Given the description of an element on the screen output the (x, y) to click on. 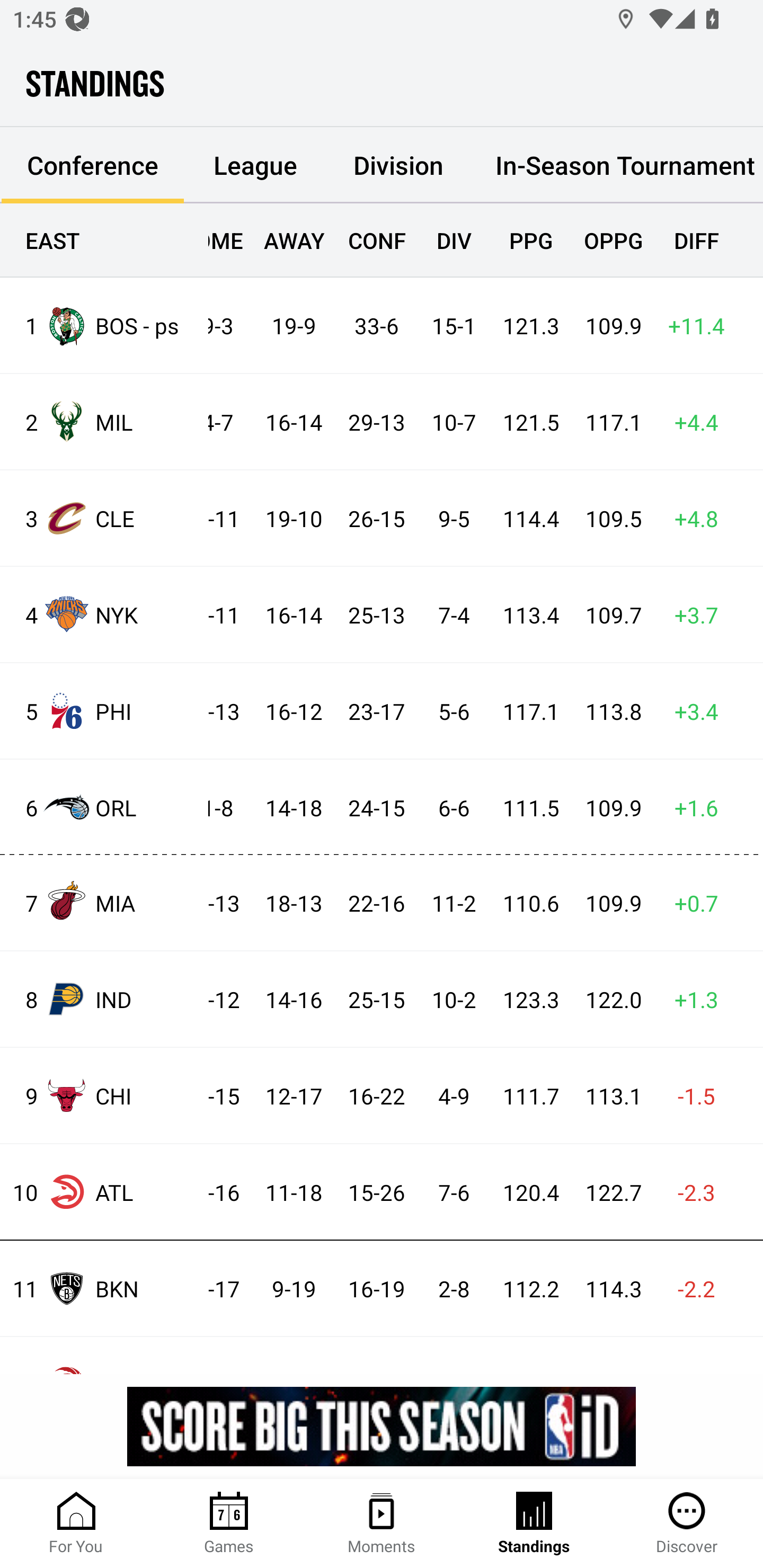
League (254, 165)
Division (398, 165)
In-Season Tournament (616, 165)
1 BOS - ps (104, 325)
2 MIL (104, 421)
3 CLE (104, 518)
4 NYK (104, 613)
5 PHI (104, 710)
6 ORL (104, 806)
7 MIA (104, 902)
8 IND (104, 999)
9 CHI (104, 1095)
10 ATL (104, 1192)
11 BKN (104, 1287)
For You (76, 1523)
Games (228, 1523)
Moments (381, 1523)
Discover (686, 1523)
